Given the description of an element on the screen output the (x, y) to click on. 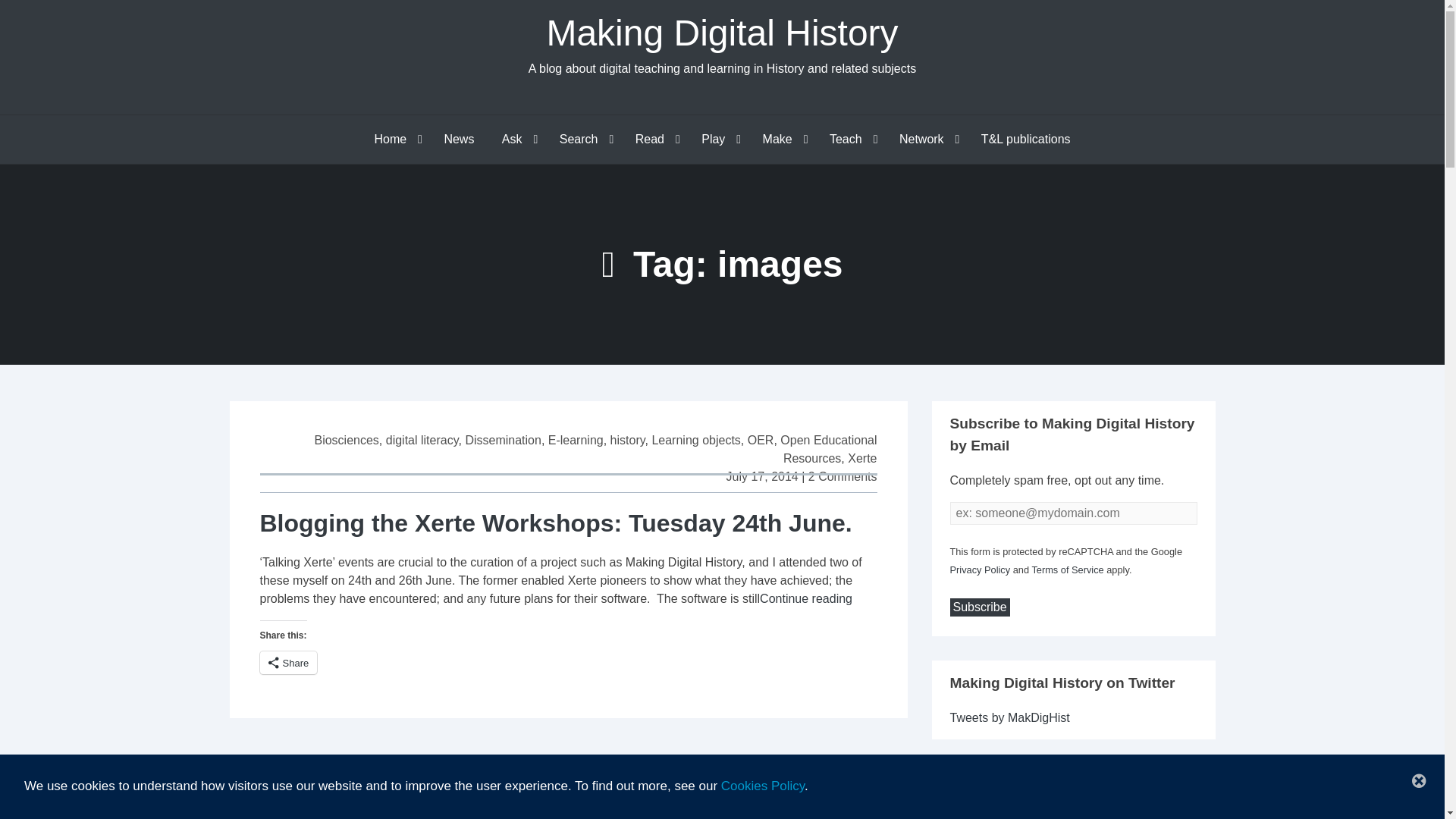
Dissemination (502, 440)
digital literacy (421, 440)
Subscribe (979, 607)
Teach (849, 139)
Network (925, 139)
Read (654, 139)
News (458, 139)
Search (583, 139)
Play (717, 139)
Biosciences (346, 440)
Ask (516, 139)
Make (782, 139)
Home (394, 139)
Making Digital History (722, 33)
